Given the description of an element on the screen output the (x, y) to click on. 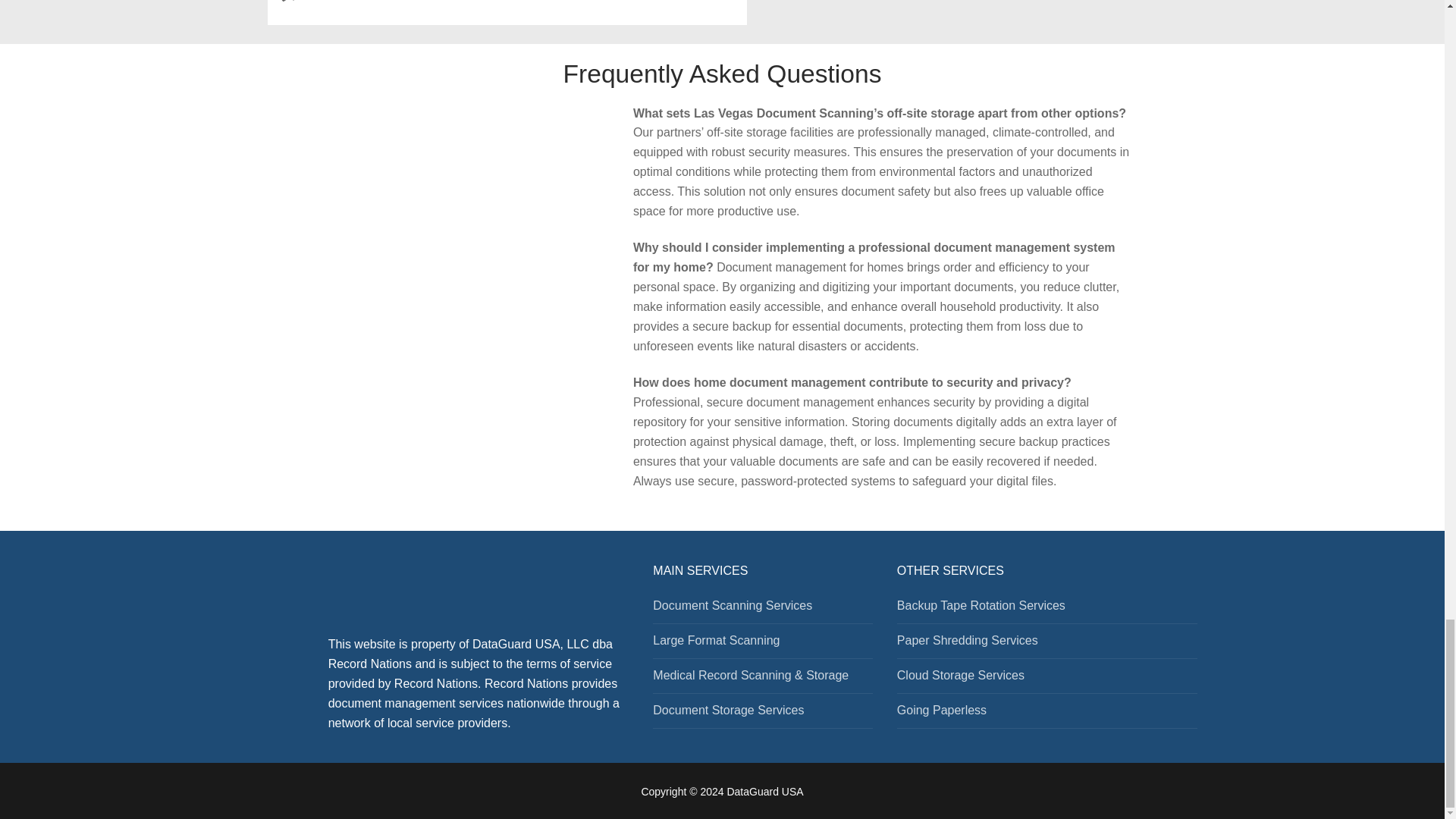
Document Storage Services (762, 714)
Backup Tape Rotation Services (1047, 609)
Paper Shredding Services (1047, 644)
Large Format Scanning (762, 644)
Cloud Storage Services (1047, 678)
Document Scanning Services (762, 609)
Going Paperless (1047, 714)
